Given the description of an element on the screen output the (x, y) to click on. 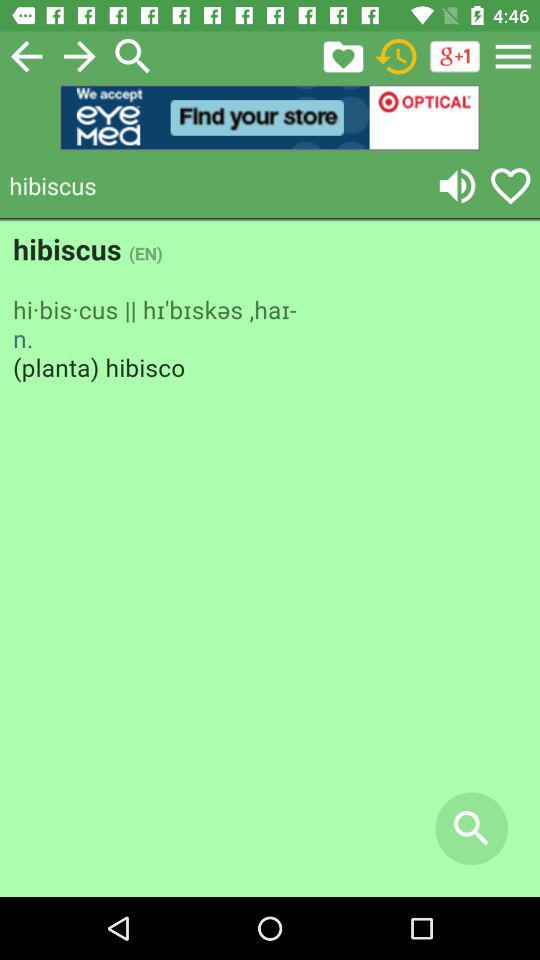
set time of option (396, 56)
